Given the description of an element on the screen output the (x, y) to click on. 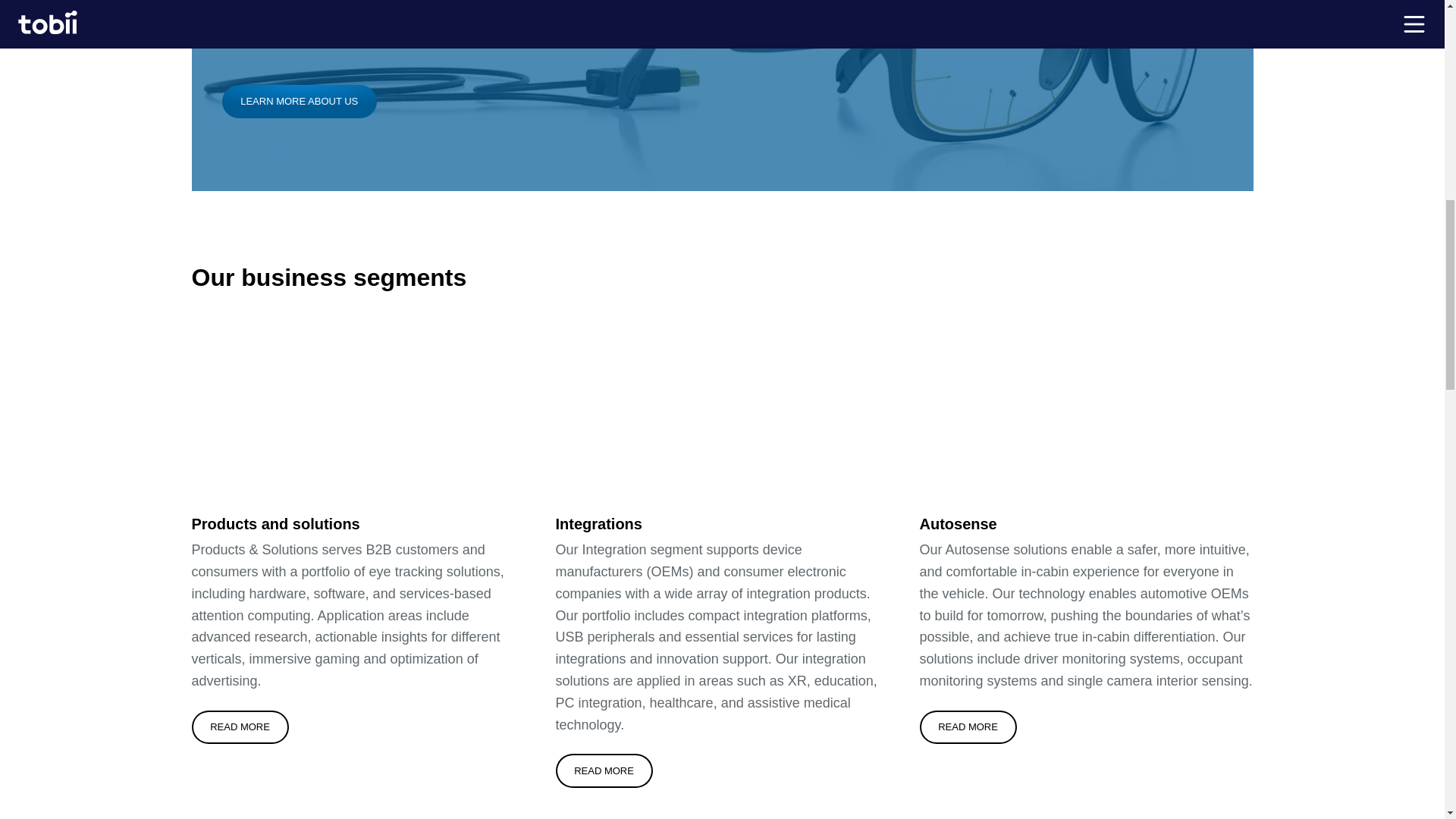
READ MORE (239, 726)
LEARN MORE ABOUT US (298, 101)
Read more (239, 726)
READ MORE (967, 726)
READ MORE (603, 770)
Read more (967, 726)
Learn more about us (298, 101)
Read more (603, 770)
